Given the description of an element on the screen output the (x, y) to click on. 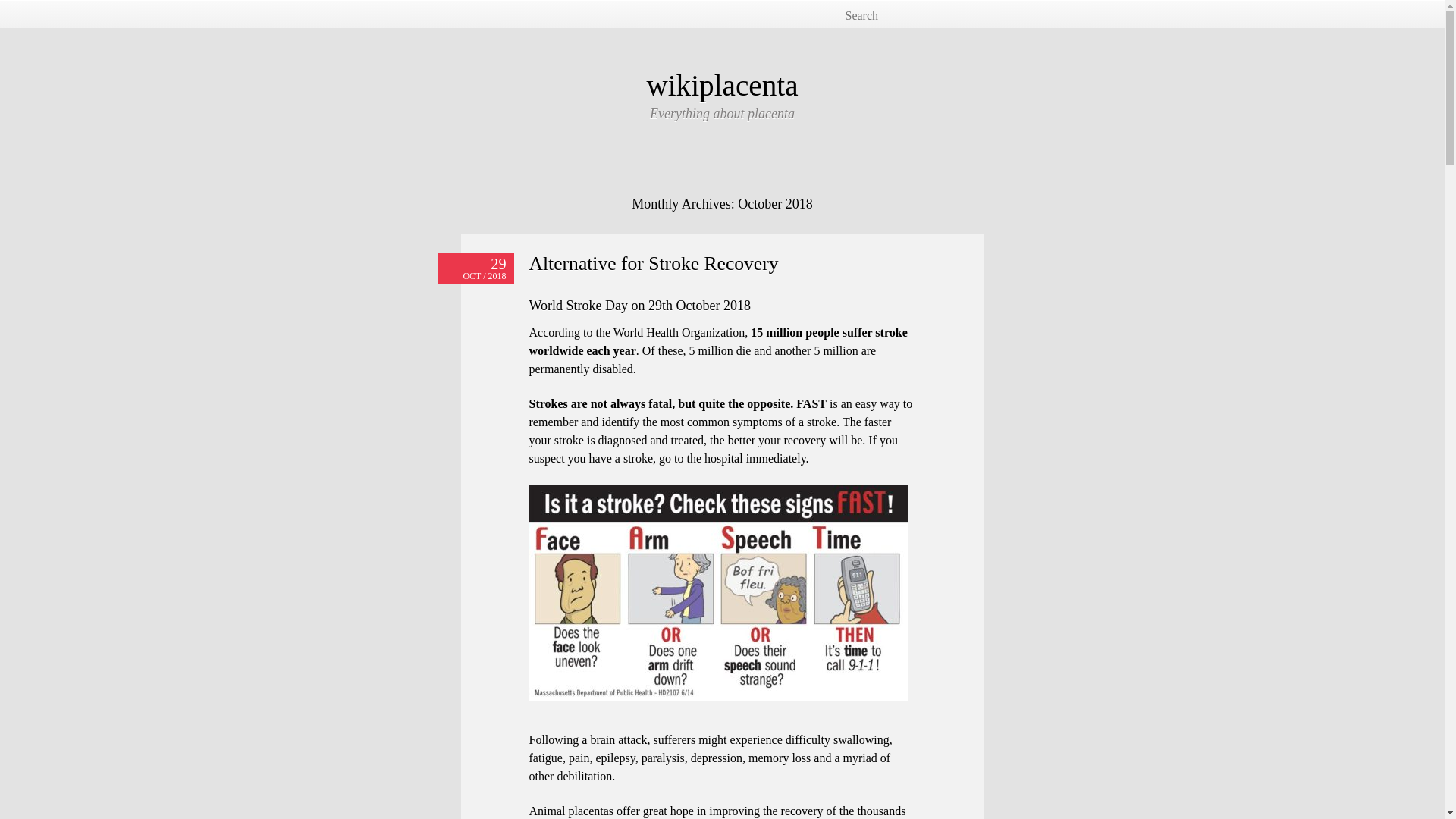
wikiplacenta (721, 84)
Permalink to Alternative for Stroke Recovery (475, 268)
Alternative for Stroke Recovery (653, 263)
wikiplacenta (721, 84)
